Given the description of an element on the screen output the (x, y) to click on. 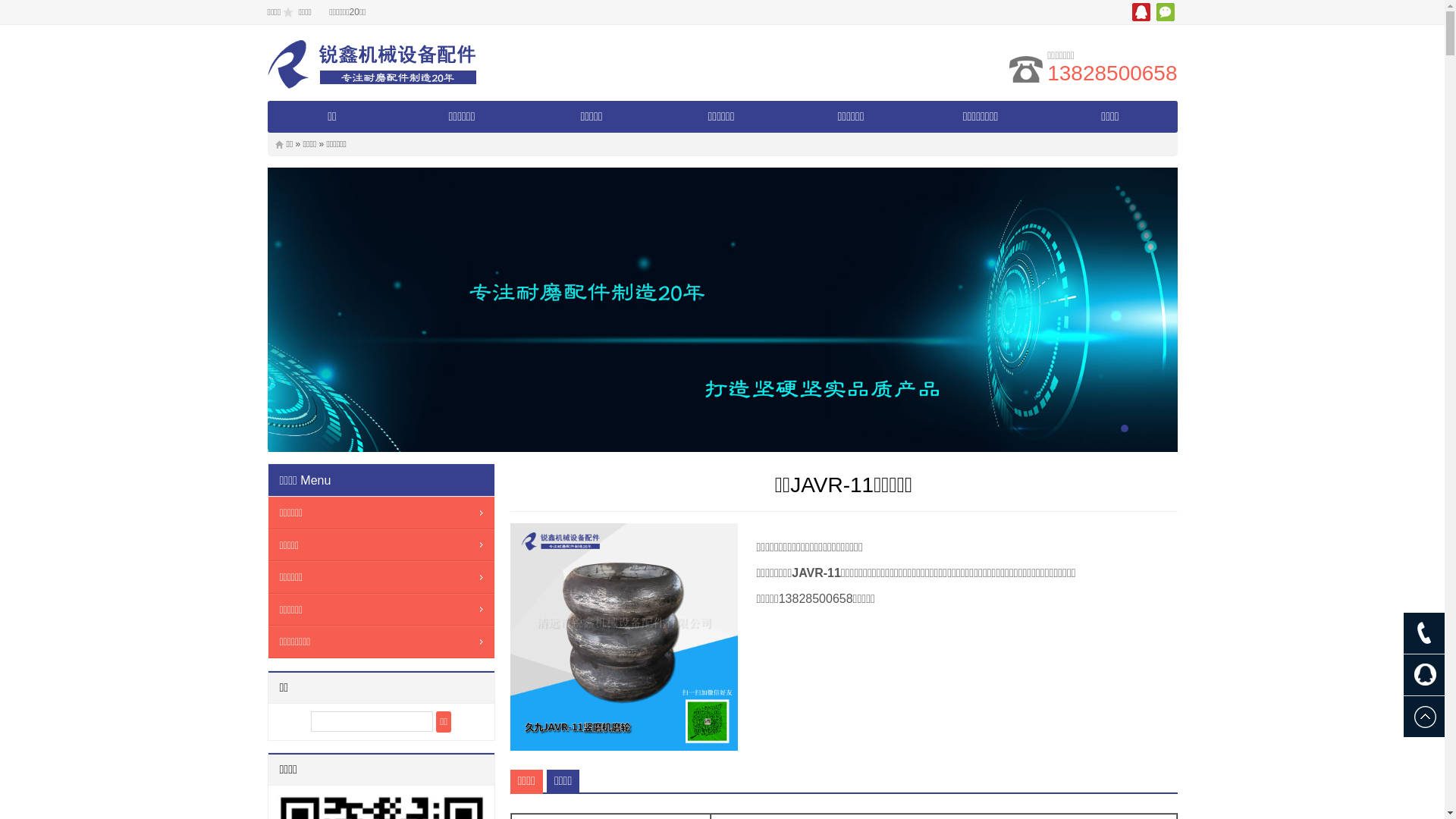
13828500658 Element type: text (1111, 72)
1 Element type: text (1124, 428)
